Given the description of an element on the screen output the (x, y) to click on. 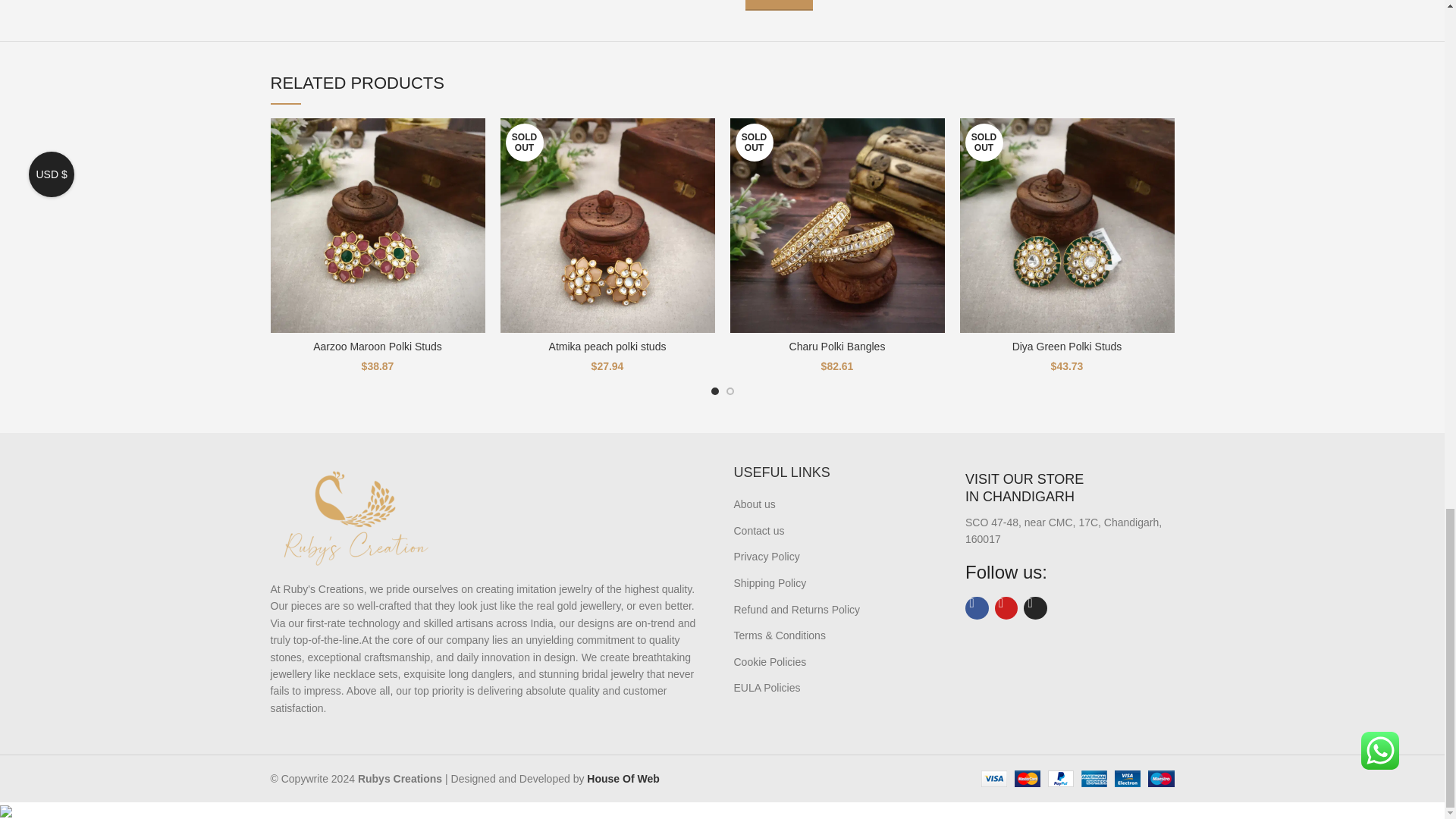
Submit (778, 5)
